Given the description of an element on the screen output the (x, y) to click on. 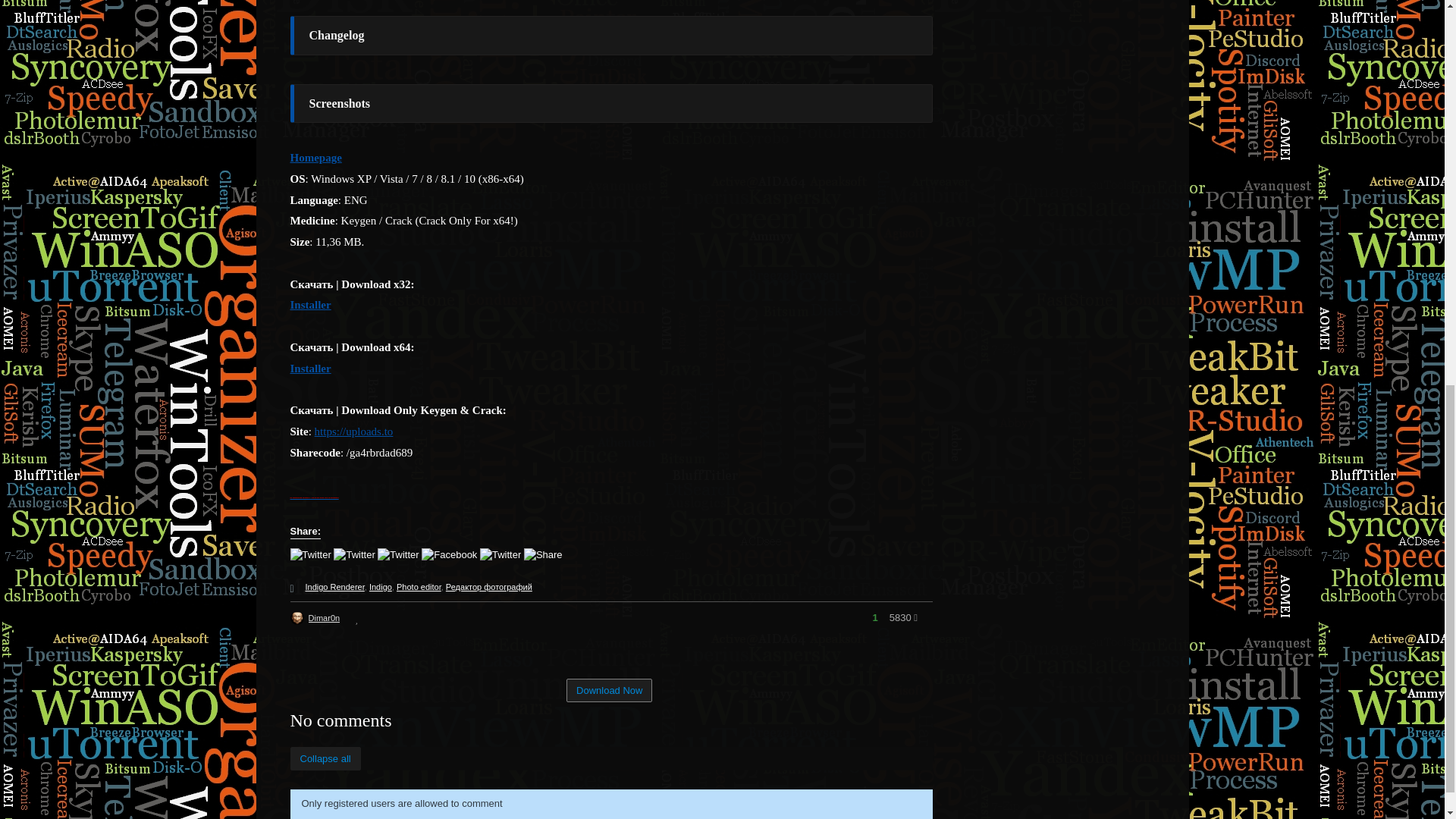
Add to favourite (356, 619)
